Given the description of an element on the screen output the (x, y) to click on. 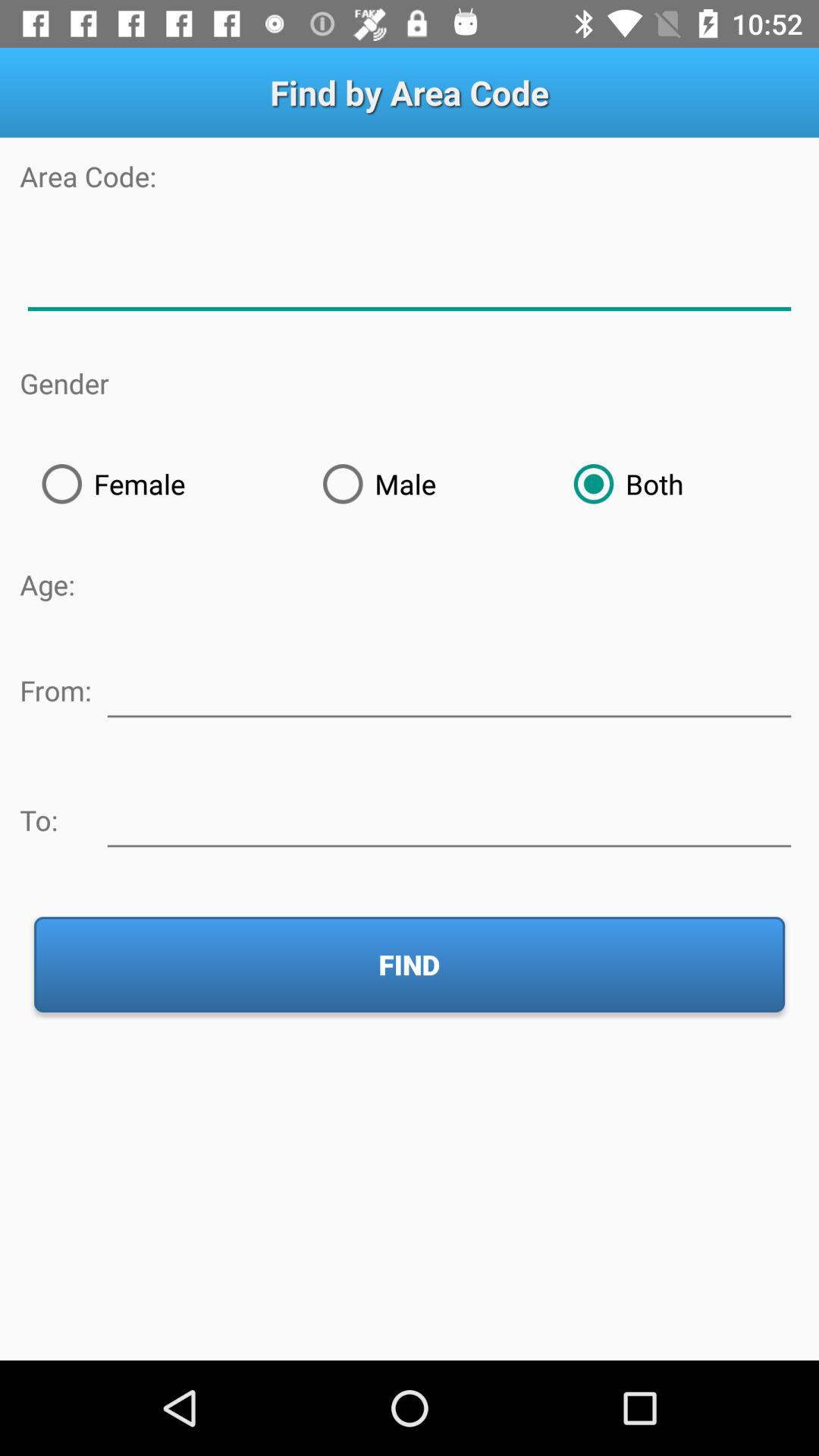
open both radio button (674, 483)
